Given the description of an element on the screen output the (x, y) to click on. 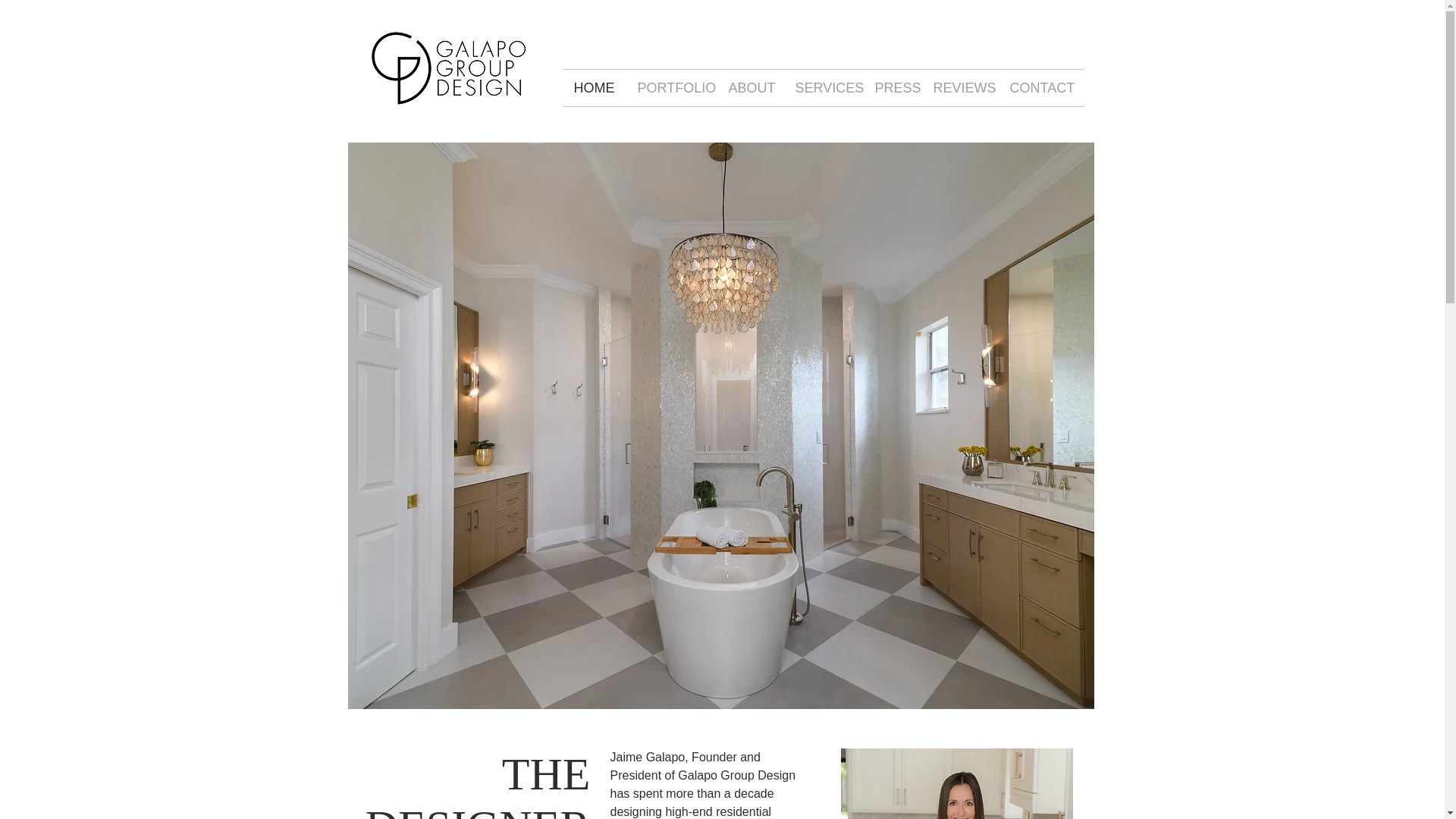
CONTACT (1040, 87)
SERVICES (823, 87)
ABOUT (750, 87)
HOME (594, 87)
PRESS (892, 87)
PORTFOLIO (671, 87)
REVIEWS (959, 87)
